Given the description of an element on the screen output the (x, y) to click on. 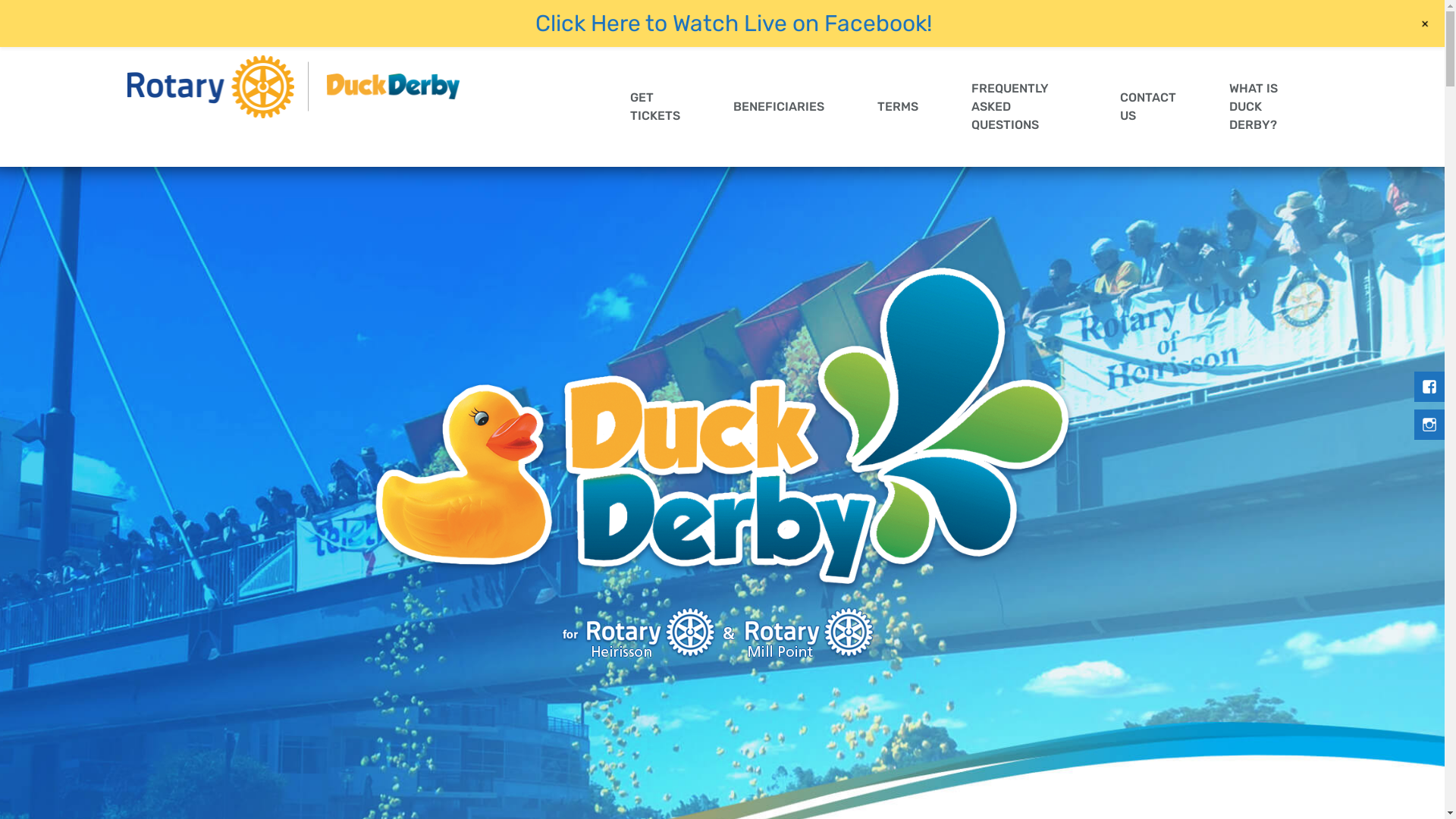
GET TICKETS Element type: text (654, 106)
CONTACT US Element type: text (1147, 106)
+ Element type: text (1425, 23)
BENEFICIARIES Element type: text (778, 106)
Click Here to Watch Live on Facebook! Element type: text (733, 23)
TERMS Element type: text (897, 106)
FREQUENTLY ASKED QUESTIONS Element type: text (1018, 106)
WHAT IS DUCK DERBY? Element type: text (1259, 106)
